Given the description of an element on the screen output the (x, y) to click on. 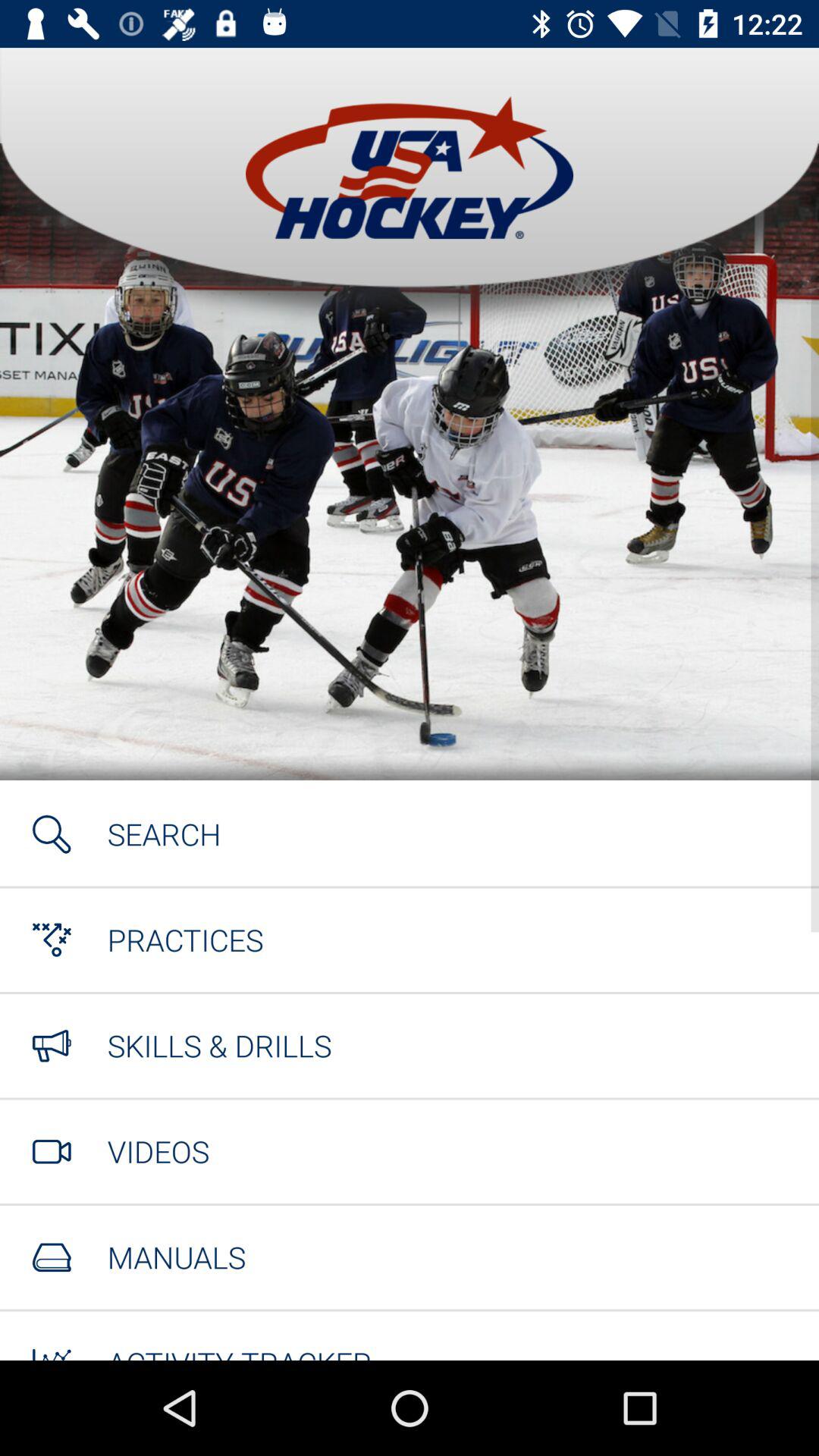
launch the item below search (185, 939)
